Given the description of an element on the screen output the (x, y) to click on. 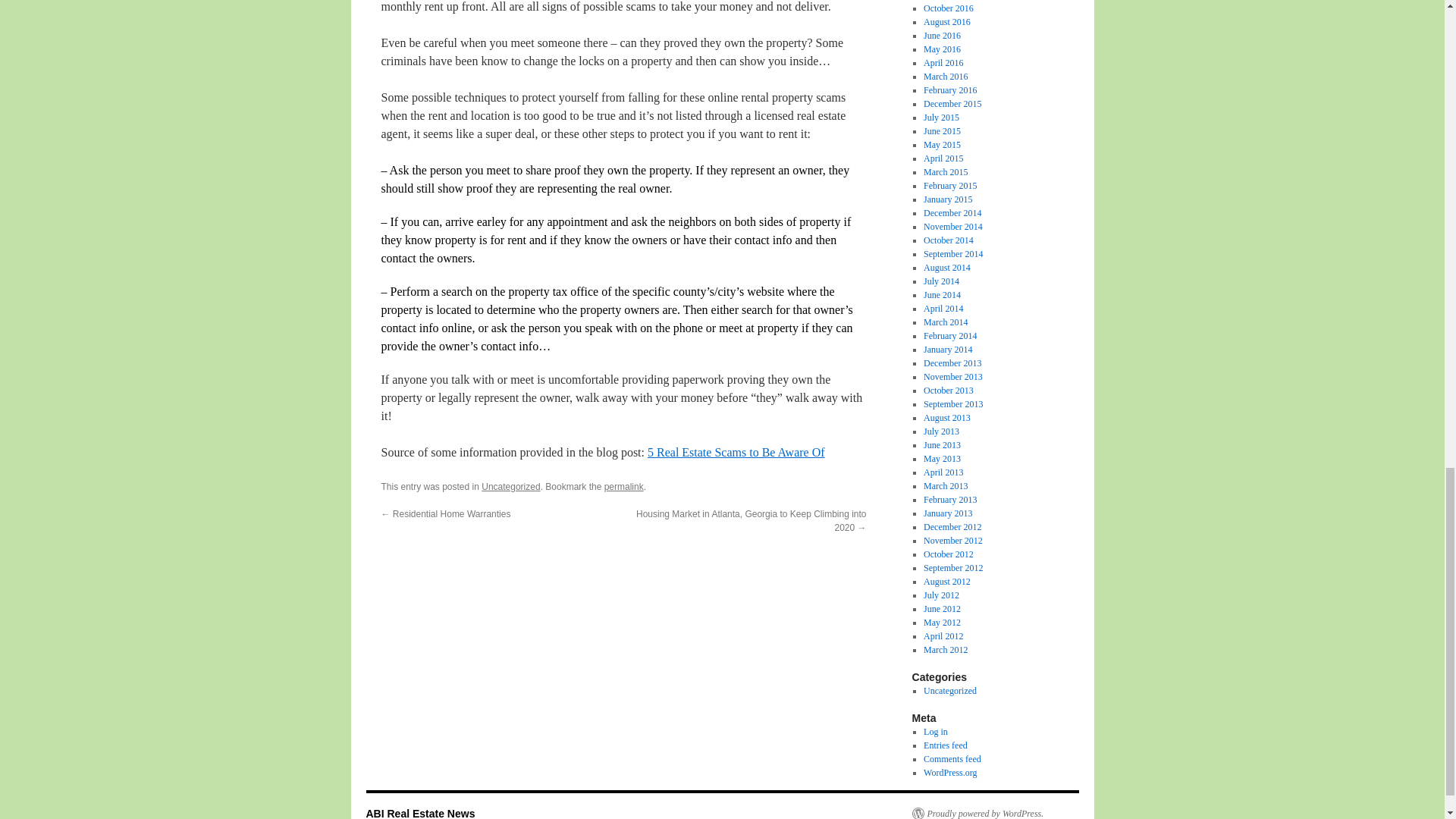
5 Real Estate Scams to Be Aware Of (736, 451)
Permalink to Real estate scams (623, 486)
Uncategorized (510, 486)
permalink (623, 486)
